Given the description of an element on the screen output the (x, y) to click on. 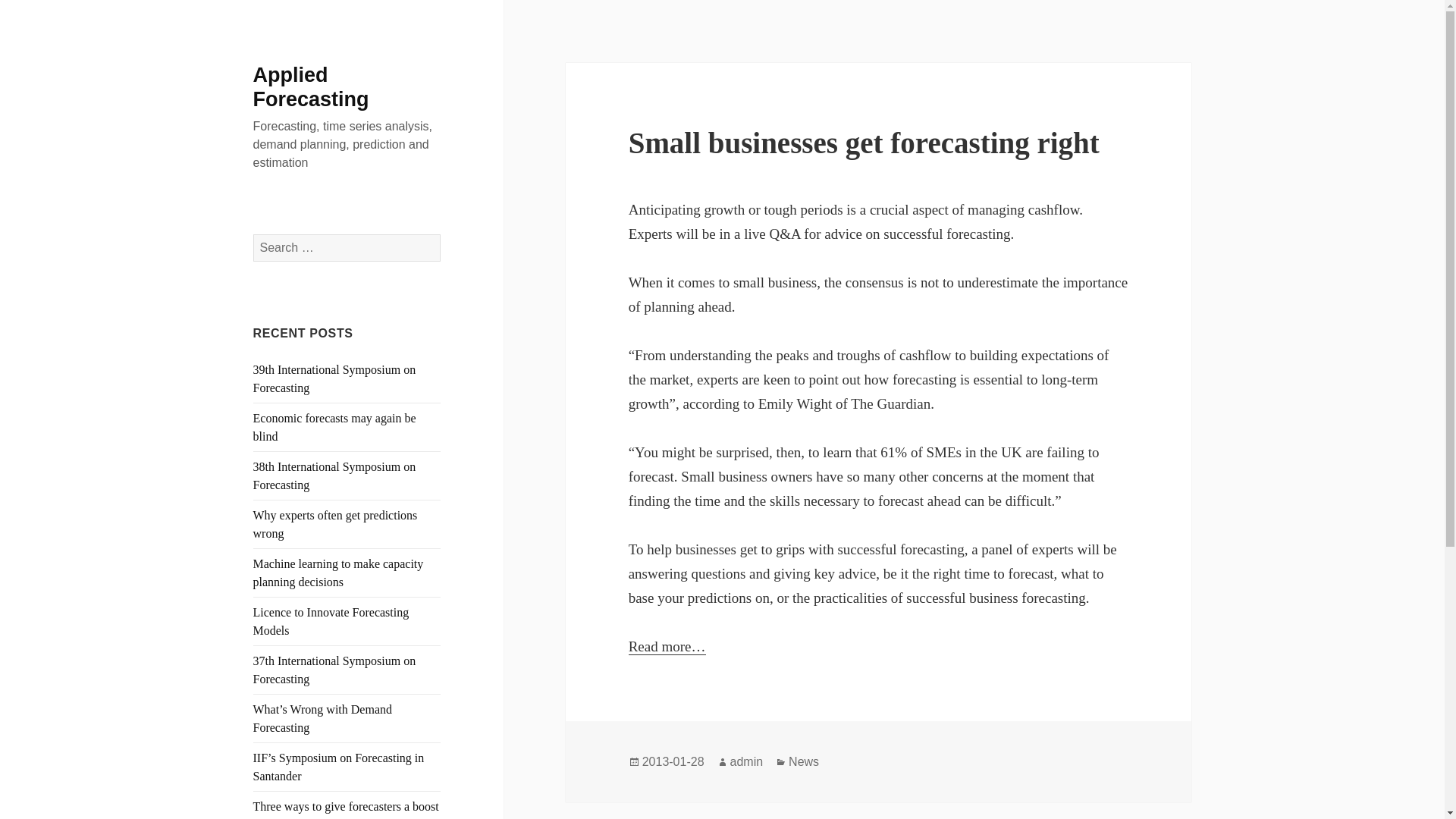
Applied Forecasting (311, 86)
Economic forecasts may again be blind (334, 427)
Three ways to give forecasters a boost (346, 806)
Machine learning to make capacity planning decisions (338, 572)
39th International Symposium on Forecasting (334, 378)
Licence to Innovate Forecasting Models (331, 621)
38th International Symposium on Forecasting (334, 475)
37th International Symposium on Forecasting (334, 669)
